Given the description of an element on the screen output the (x, y) to click on. 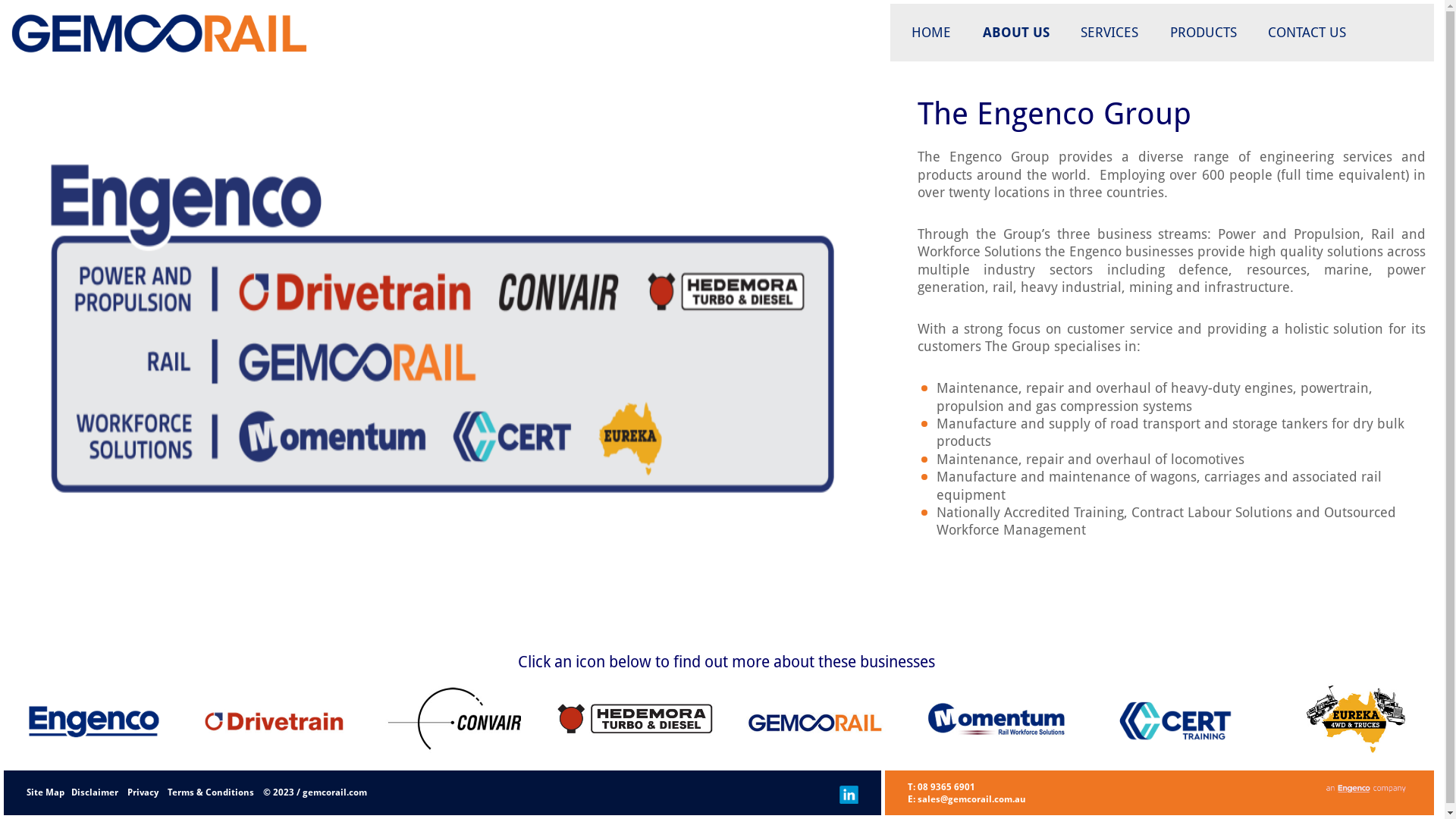
Disclaimer Element type: text (95, 792)
PRODUCTS Element type: text (1202, 32)
ABOUT US Element type: text (1015, 32)
Site Map Element type: text (45, 792)
CONTACT US Element type: text (1307, 32)
HOME Element type: text (931, 32)
E: sales@gemcorail.com.au Element type: text (966, 798)
T: 08 9365 6901 Element type: text (941, 786)
SERVICES Element type: text (1109, 32)
Terms & Conditions Element type: text (211, 792)
Gemco Rail Element type: text (73, 86)
Privacy Element type: text (142, 792)
